Given the description of an element on the screen output the (x, y) to click on. 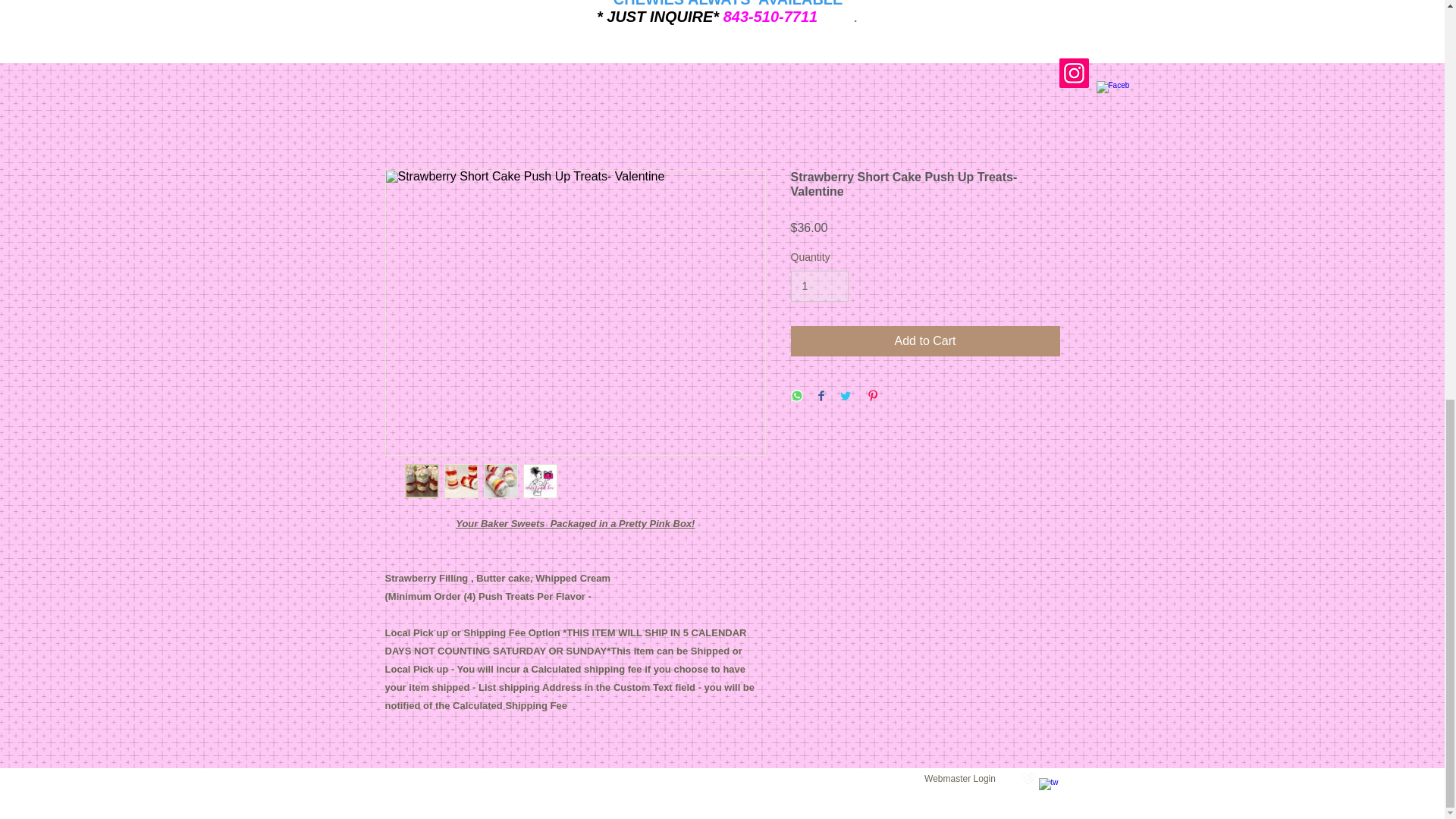
1 (818, 286)
Webmaster Login (959, 3)
Add to Cart (924, 340)
